Given the description of an element on the screen output the (x, y) to click on. 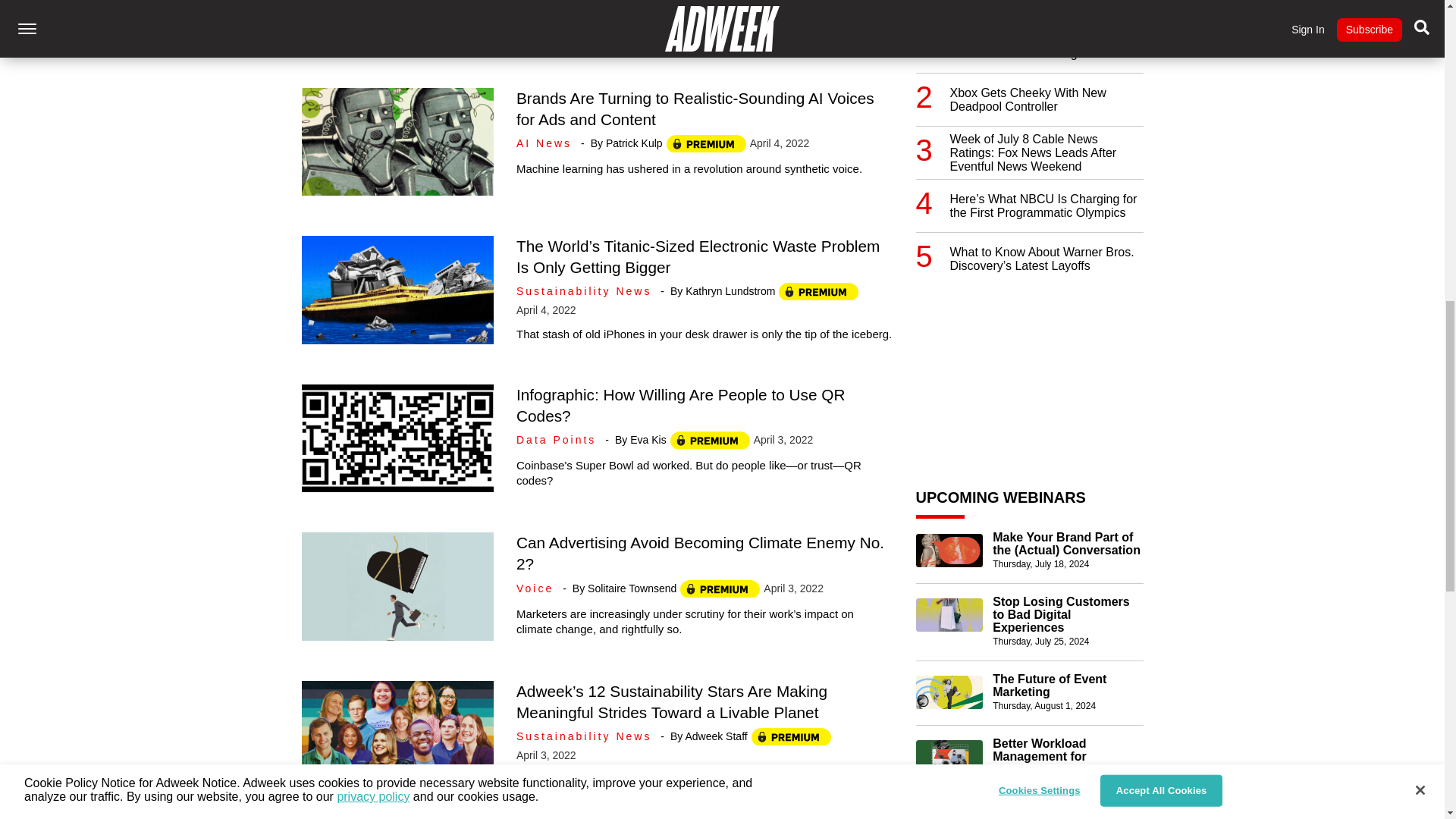
Kathryn Lundstrom (729, 291)
Sustainability News (586, 291)
Adobe-Webinar-082224-Header (948, 756)
AI News (546, 143)
CventWebinar08012Header (948, 692)
Patrick Kulp (633, 143)
